Given the description of an element on the screen output the (x, y) to click on. 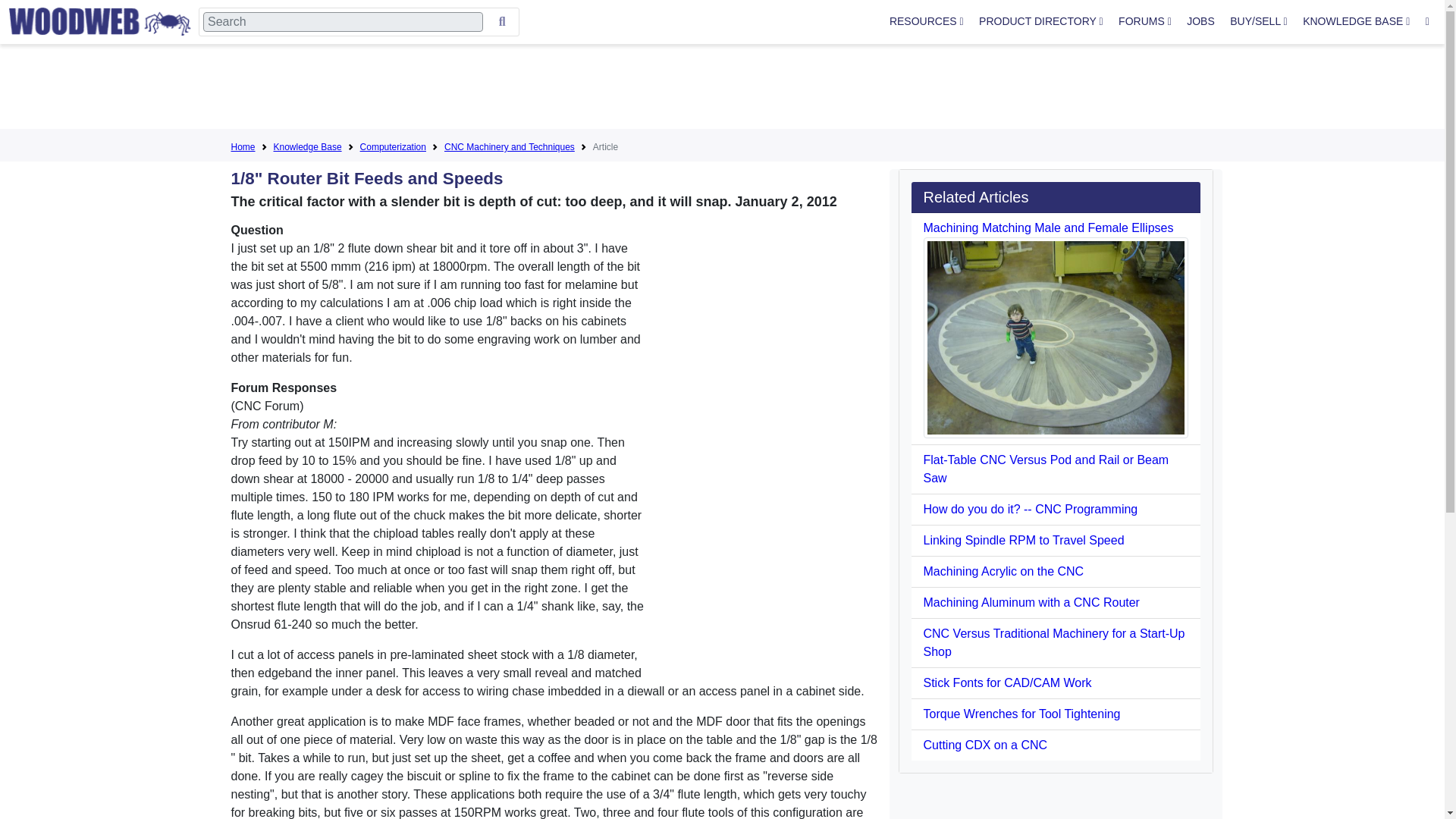
RESOURCES (926, 21)
Advertisement (721, 89)
PRODUCT DIRECTORY (1040, 21)
